Given the description of an element on the screen output the (x, y) to click on. 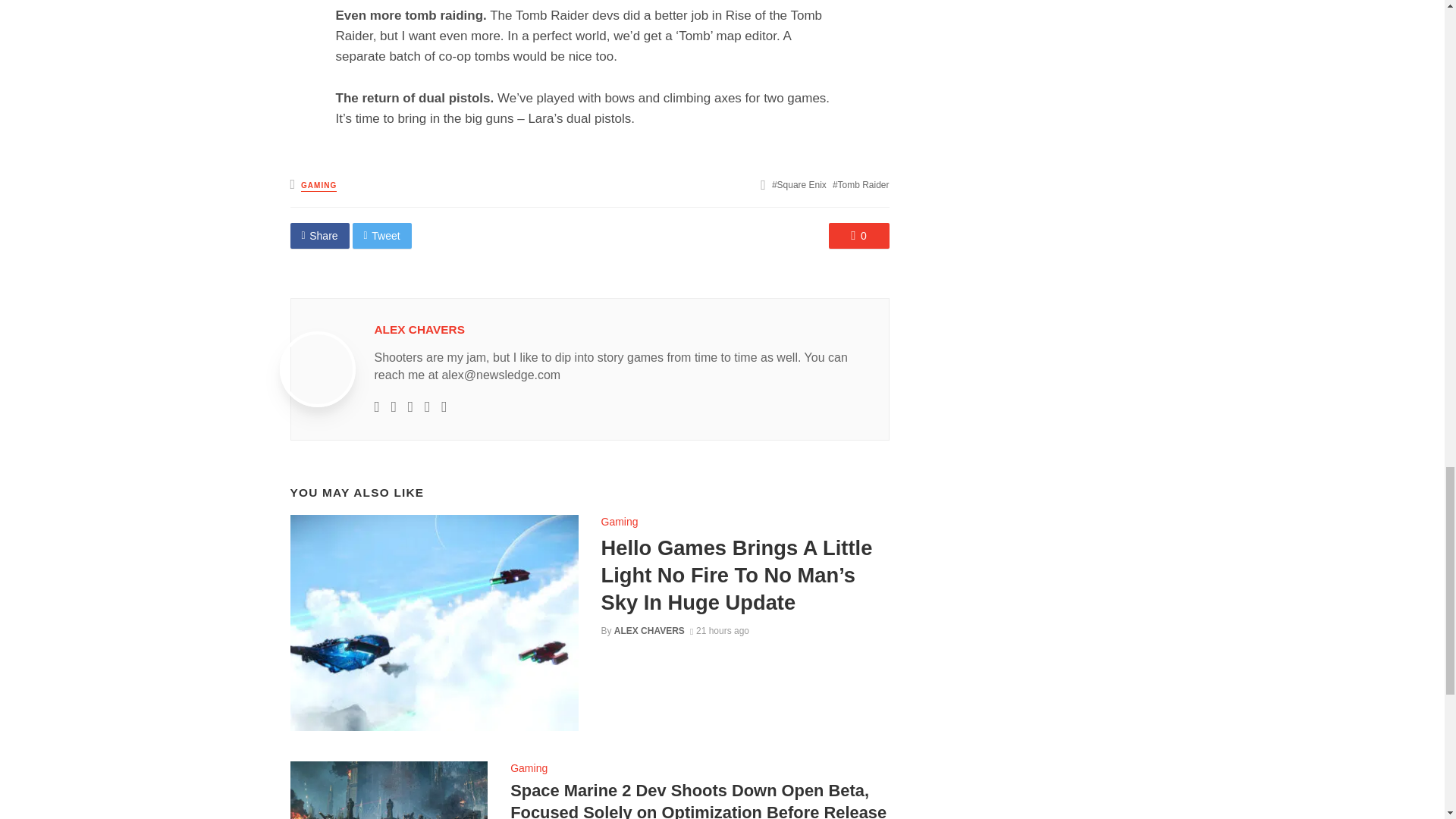
GAMING (318, 185)
Gaming (529, 767)
0 (858, 235)
Share on Facebook (319, 235)
Posts by Alex Chavers (419, 328)
e-mail (377, 405)
July 17, 2024 at 11:39 am (719, 630)
Twitter (410, 405)
Square Enix (799, 184)
0 Comments (858, 235)
Share (319, 235)
Gaming (618, 521)
Website (393, 405)
Share on Twitter (382, 235)
ALEX CHAVERS (649, 630)
